Given the description of an element on the screen output the (x, y) to click on. 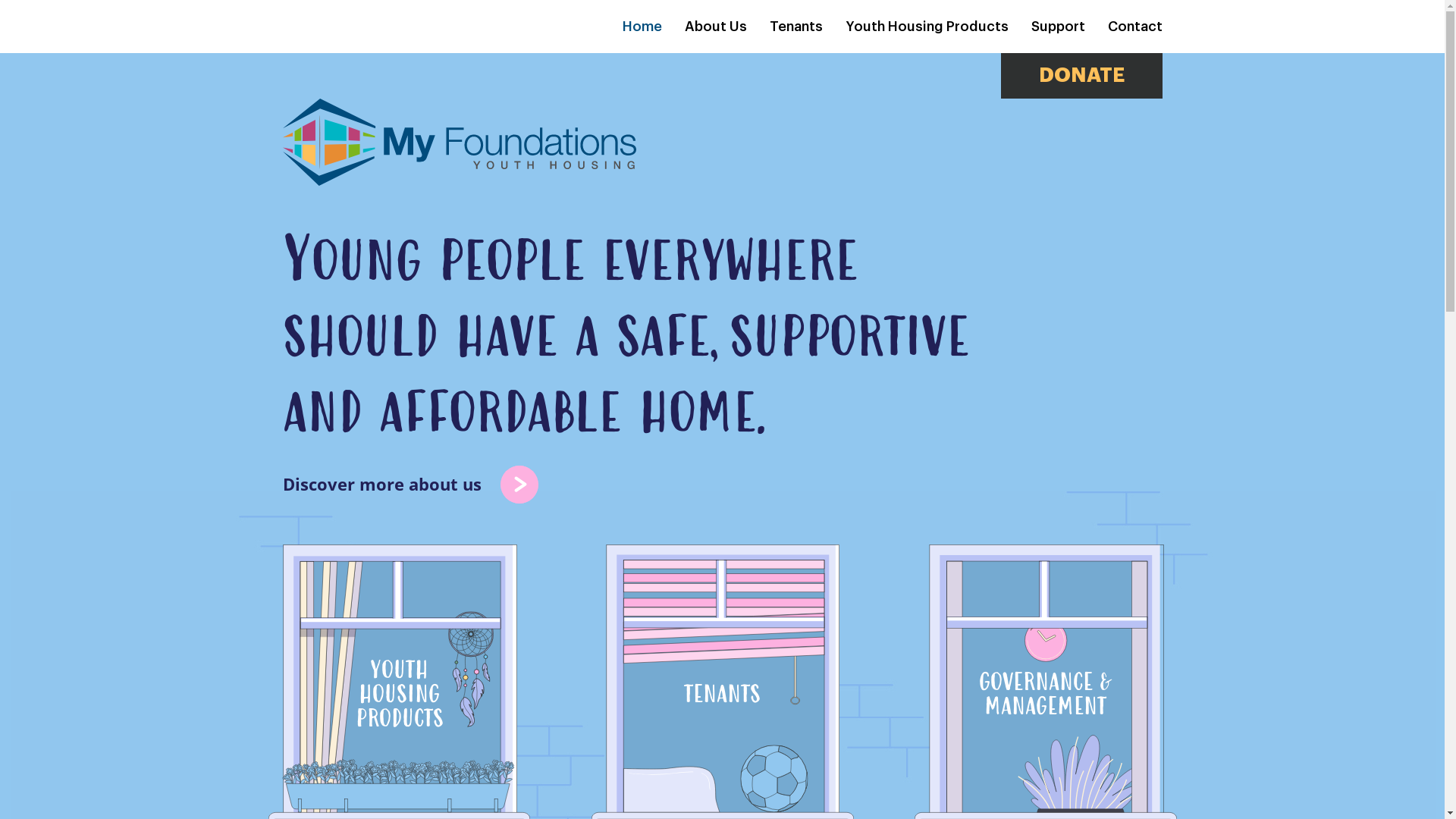
DONATE Element type: text (1081, 75)
Discover more about us Element type: text (409, 483)
Home Element type: text (641, 26)
Tenants Element type: text (795, 26)
Contact Element type: text (1134, 26)
Support Element type: text (1058, 26)
About Us Element type: text (715, 26)
Youth Housing Products Element type: text (925, 26)
